Given the description of an element on the screen output the (x, y) to click on. 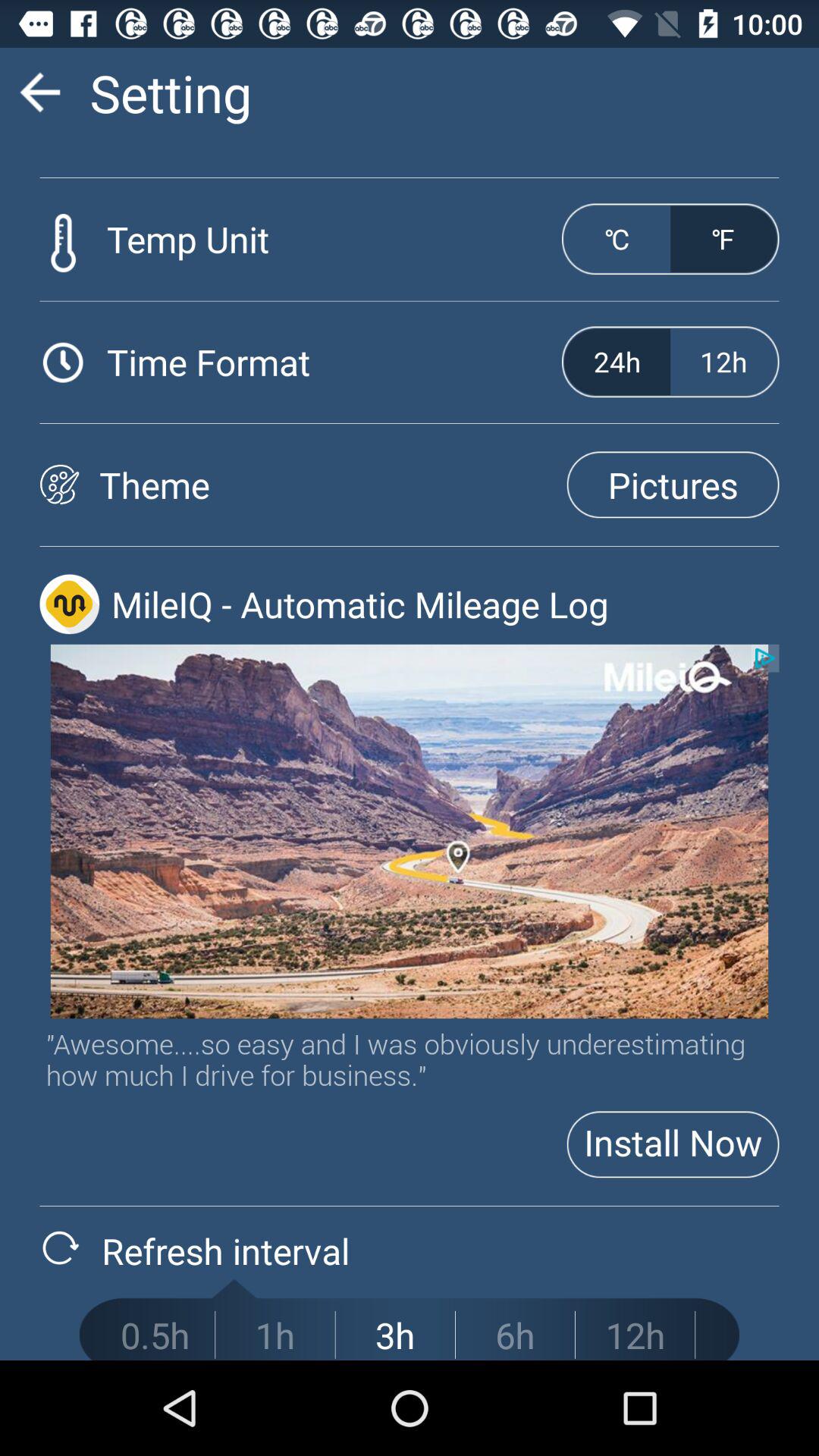
turn on app next to 3h icon (515, 1334)
